Given the description of an element on the screen output the (x, y) to click on. 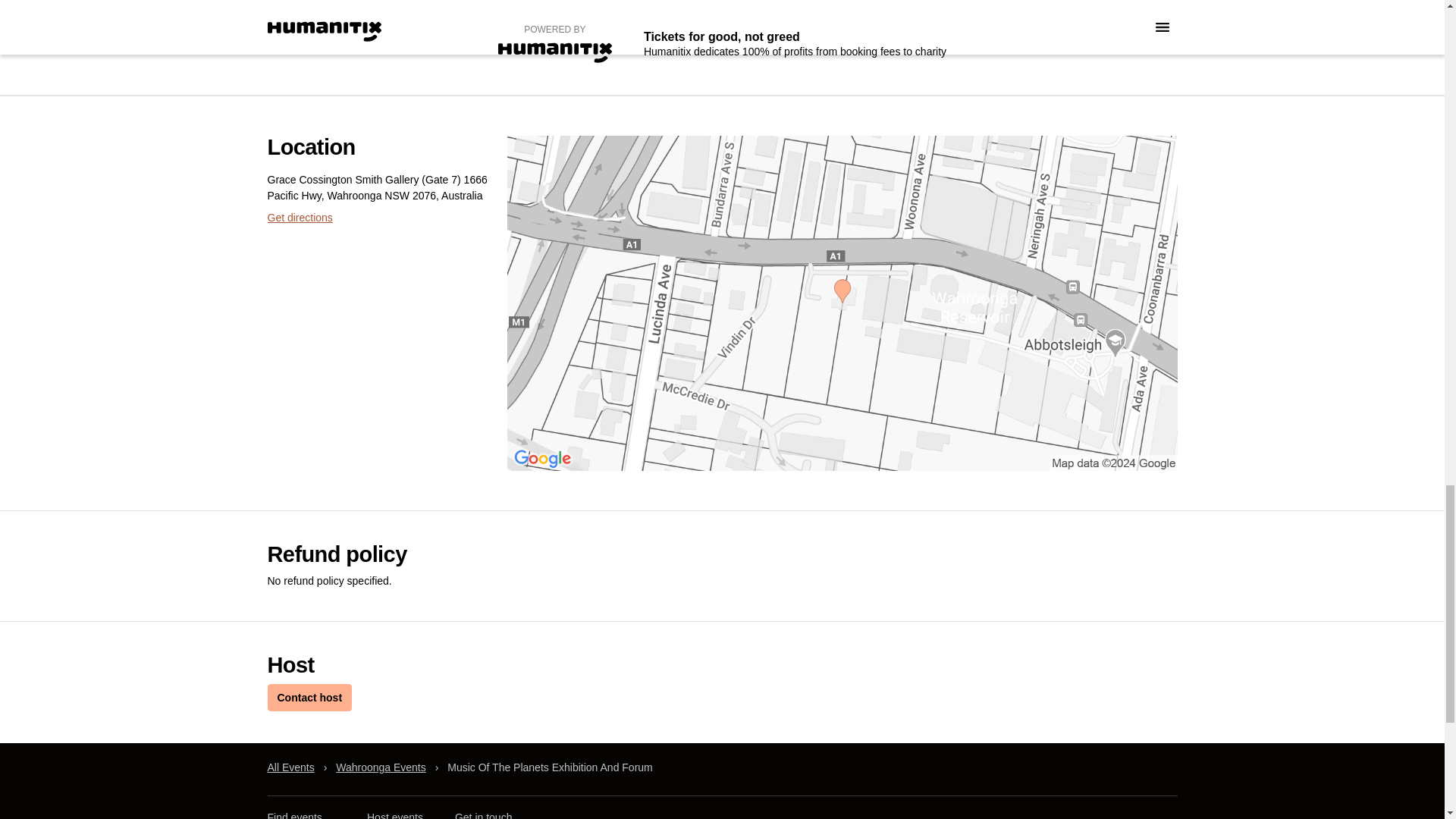
Music Of The Planets Exhibition And Forum (549, 767)
Contact host (309, 697)
Get directions (298, 216)
Wahroonga Events (381, 767)
All Events (290, 767)
